Given the description of an element on the screen output the (x, y) to click on. 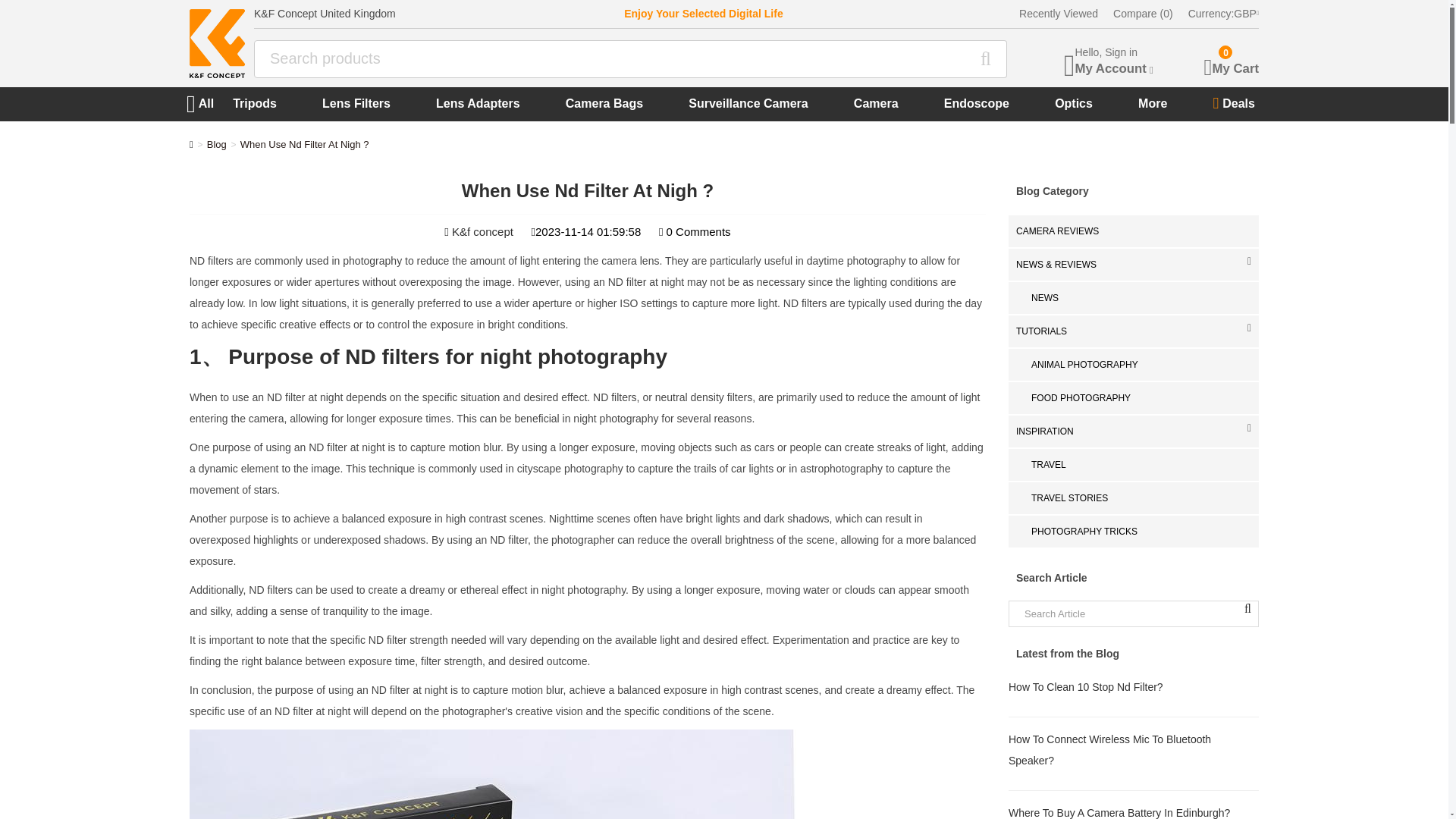
Log In (742, 417)
Compare (1143, 13)
Tripods (254, 103)
Currency : GBP (1211, 13)
All (208, 103)
Forgotten Password? (1115, 61)
Recently Viewed (778, 417)
Account (1222, 61)
Recently Viewed (1058, 13)
